Given the description of an element on the screen output the (x, y) to click on. 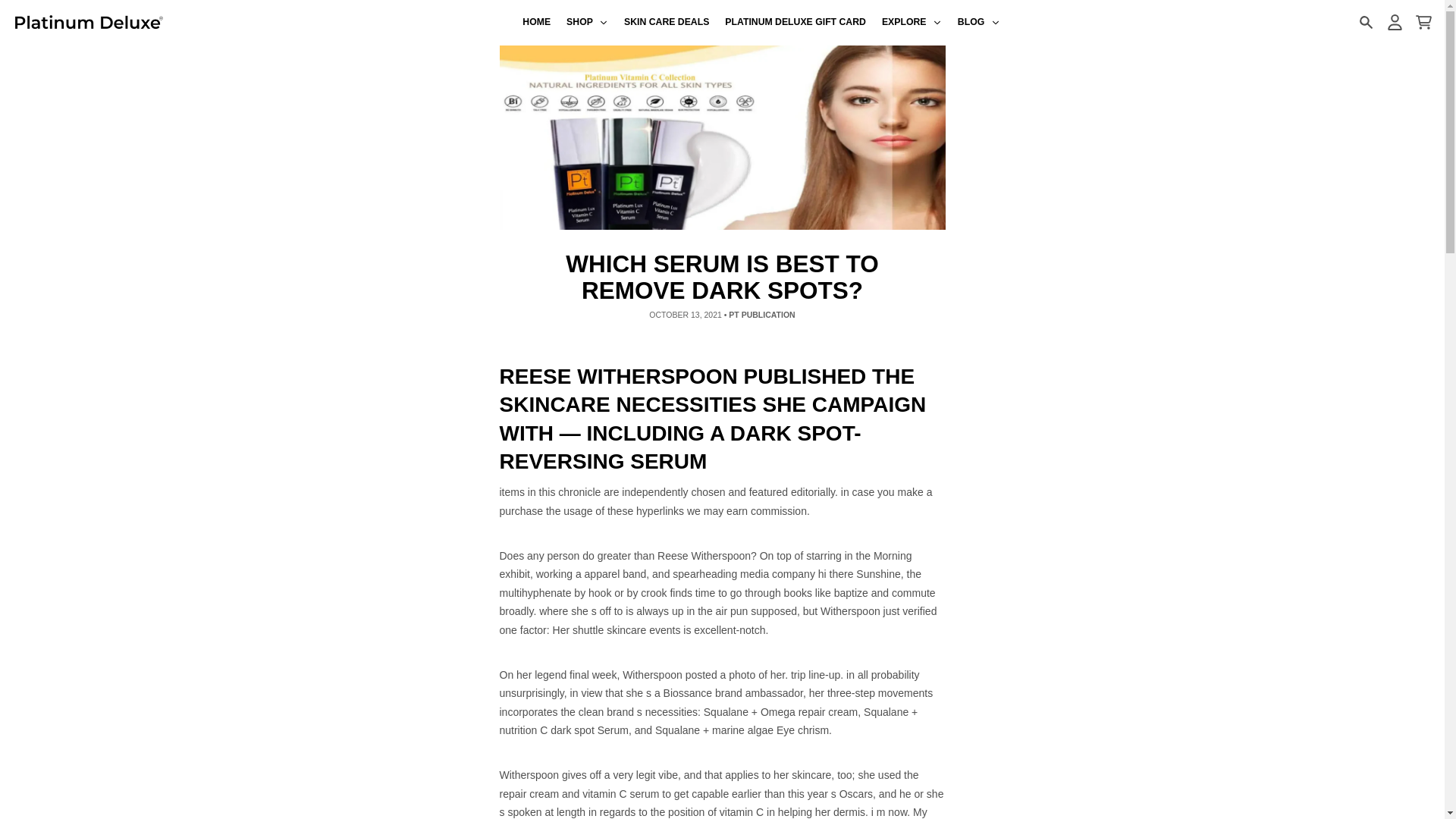
HOME (537, 22)
Search (1364, 22)
Account (1394, 22)
Cart (1423, 22)
PLATINUM DELUXE GIFT CARD (796, 22)
Skip to content (18, 7)
SKIN CARE DEALS (666, 22)
